Given the description of an element on the screen output the (x, y) to click on. 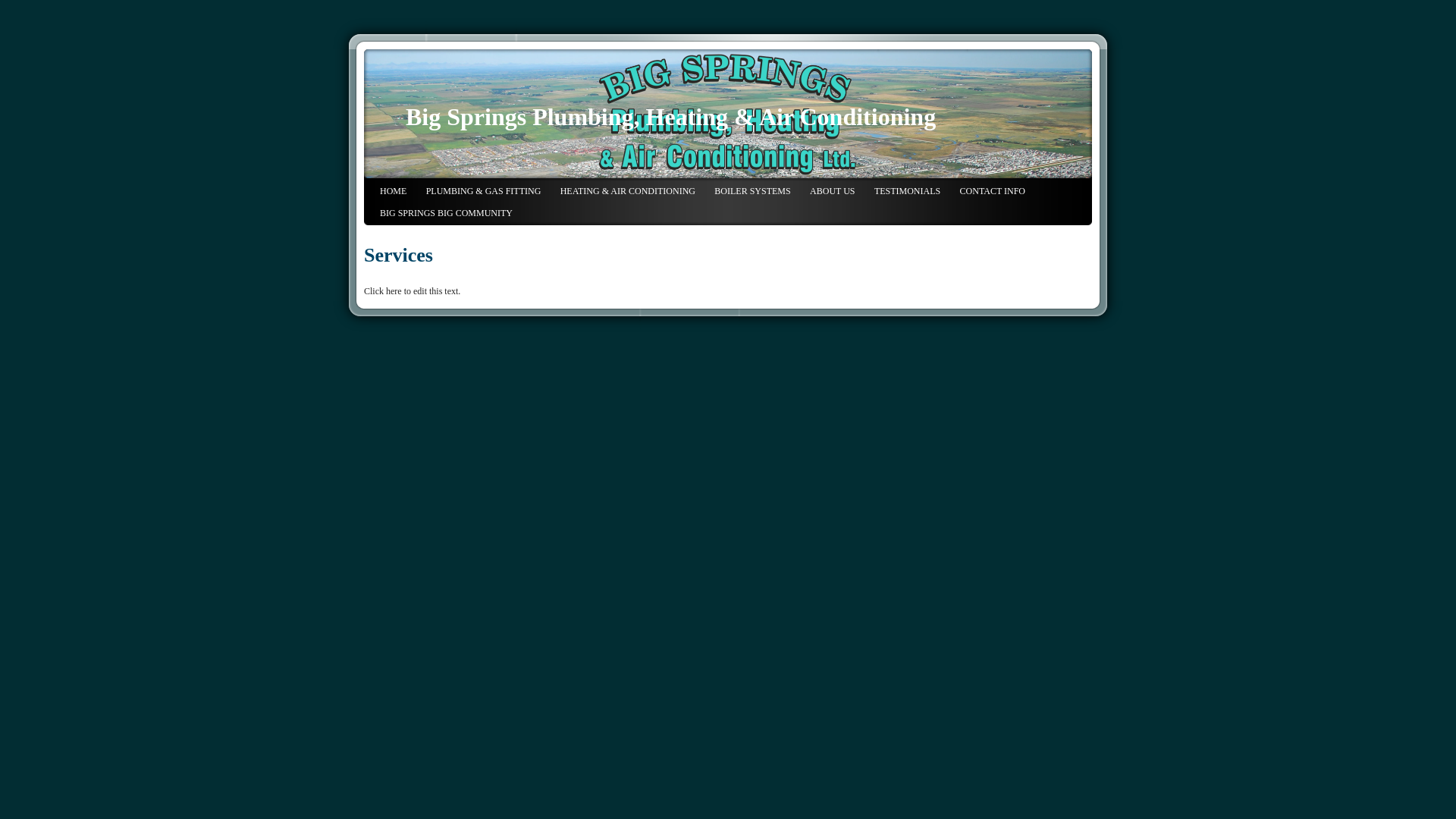
PLUMBING & GAS FITTING Element type: text (483, 192)
HEATING & AIR CONDITIONING Element type: text (627, 192)
CONTACT INFO Element type: text (992, 192)
BOILER SYSTEMS Element type: text (752, 192)
Big Springs Plumbing, Heating & Air Conditioning Element type: text (670, 116)
HOME Element type: text (392, 192)
BIG SPRINGS BIG COMMUNITY Element type: text (445, 214)
ABOUT US Element type: text (831, 192)
TESTIMONIALS Element type: text (907, 192)
